Given the description of an element on the screen output the (x, y) to click on. 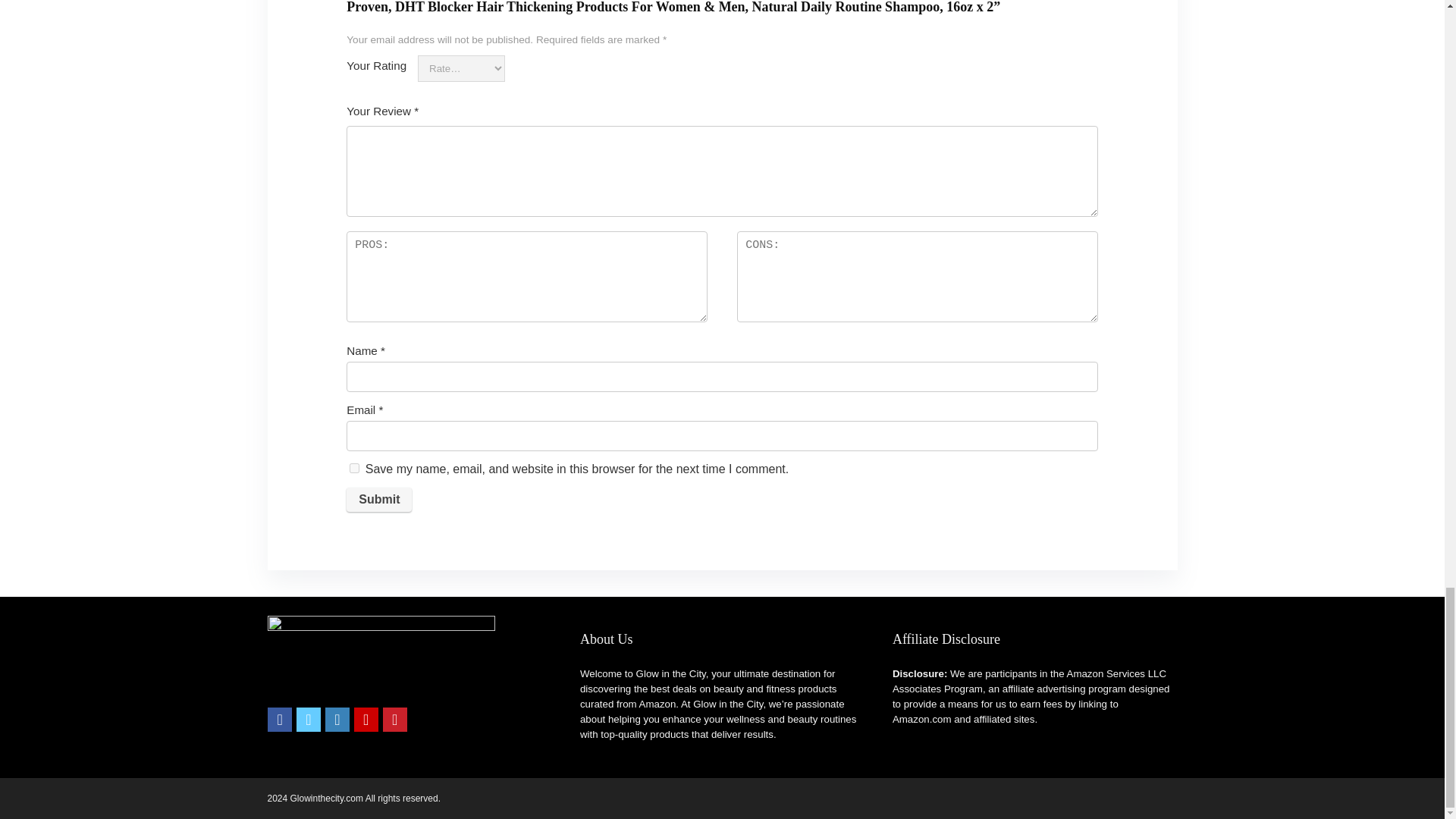
Submit (379, 499)
yes (354, 468)
